Given the description of an element on the screen output the (x, y) to click on. 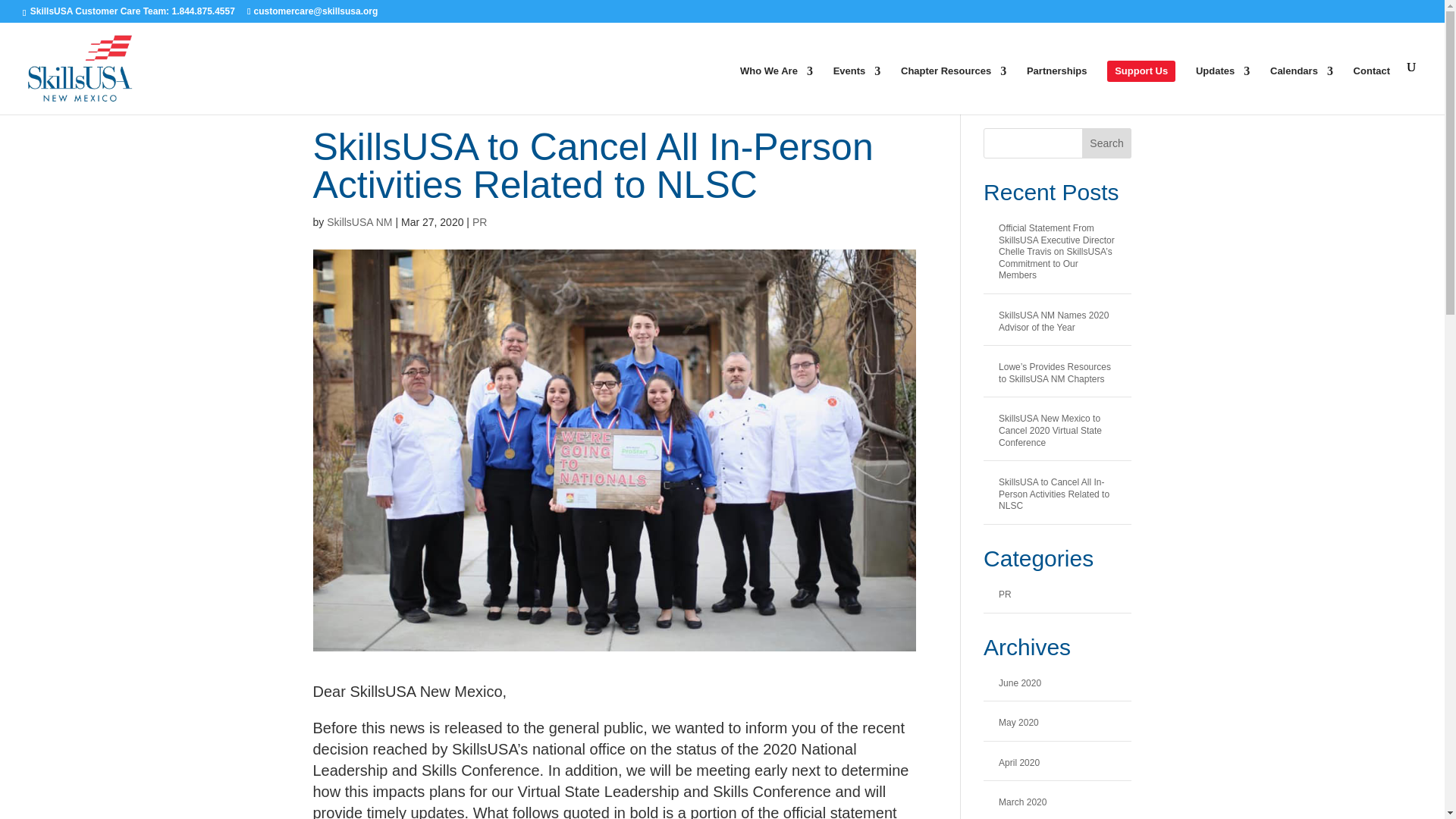
Posts by SkillsUSA NM (358, 222)
Calendars (1301, 90)
Updates (1222, 90)
PR (478, 222)
Who We Are (775, 90)
Chapter Resources (953, 90)
Events (856, 90)
Support Us (1140, 70)
Search (1106, 142)
Partnerships (1056, 90)
